Given the description of an element on the screen output the (x, y) to click on. 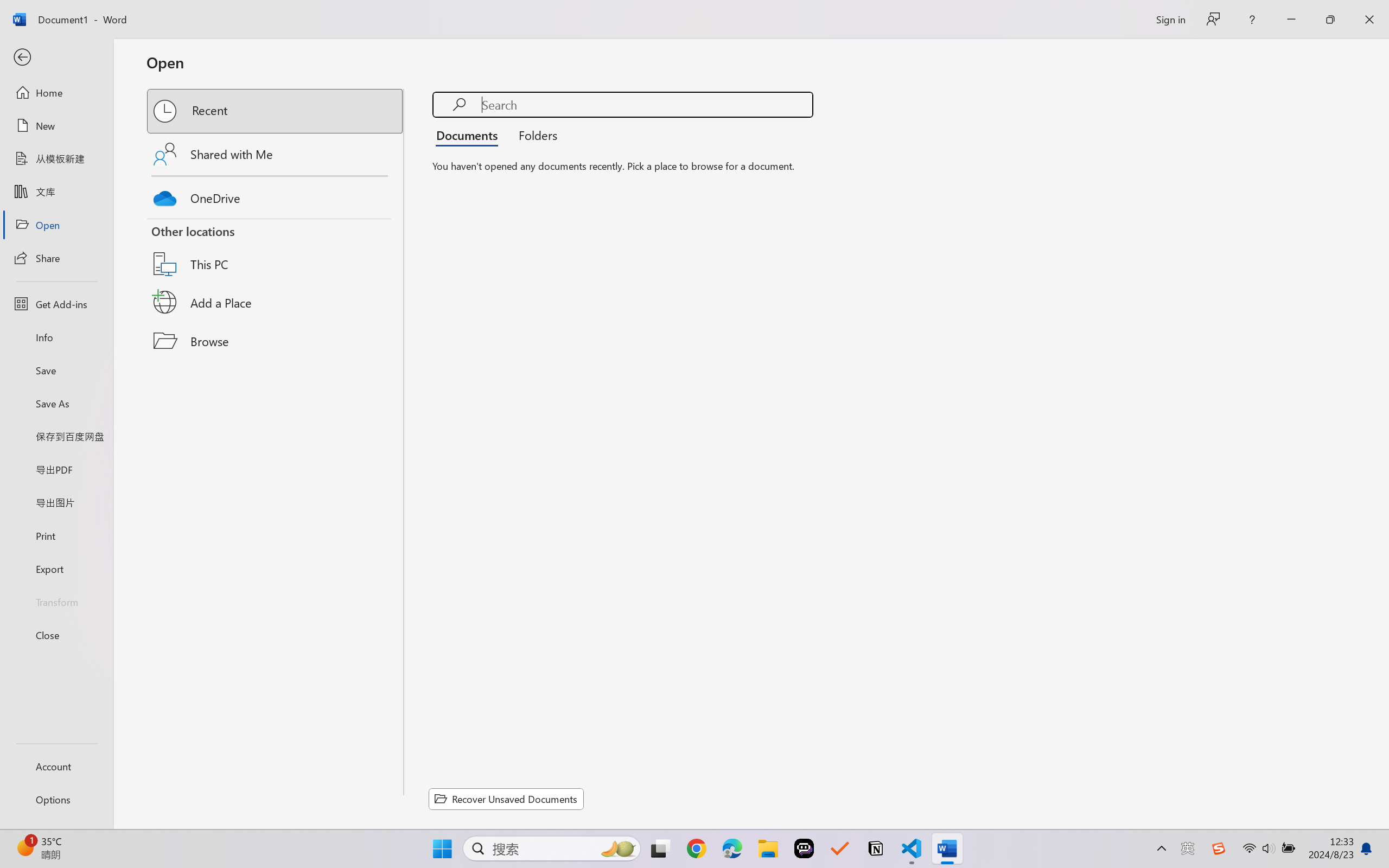
Add a Place (275, 302)
Get Add-ins (56, 303)
Save As (56, 403)
This PC (275, 249)
Info (56, 337)
Recent (275, 110)
Recover Unsaved Documents (506, 798)
